Given the description of an element on the screen output the (x, y) to click on. 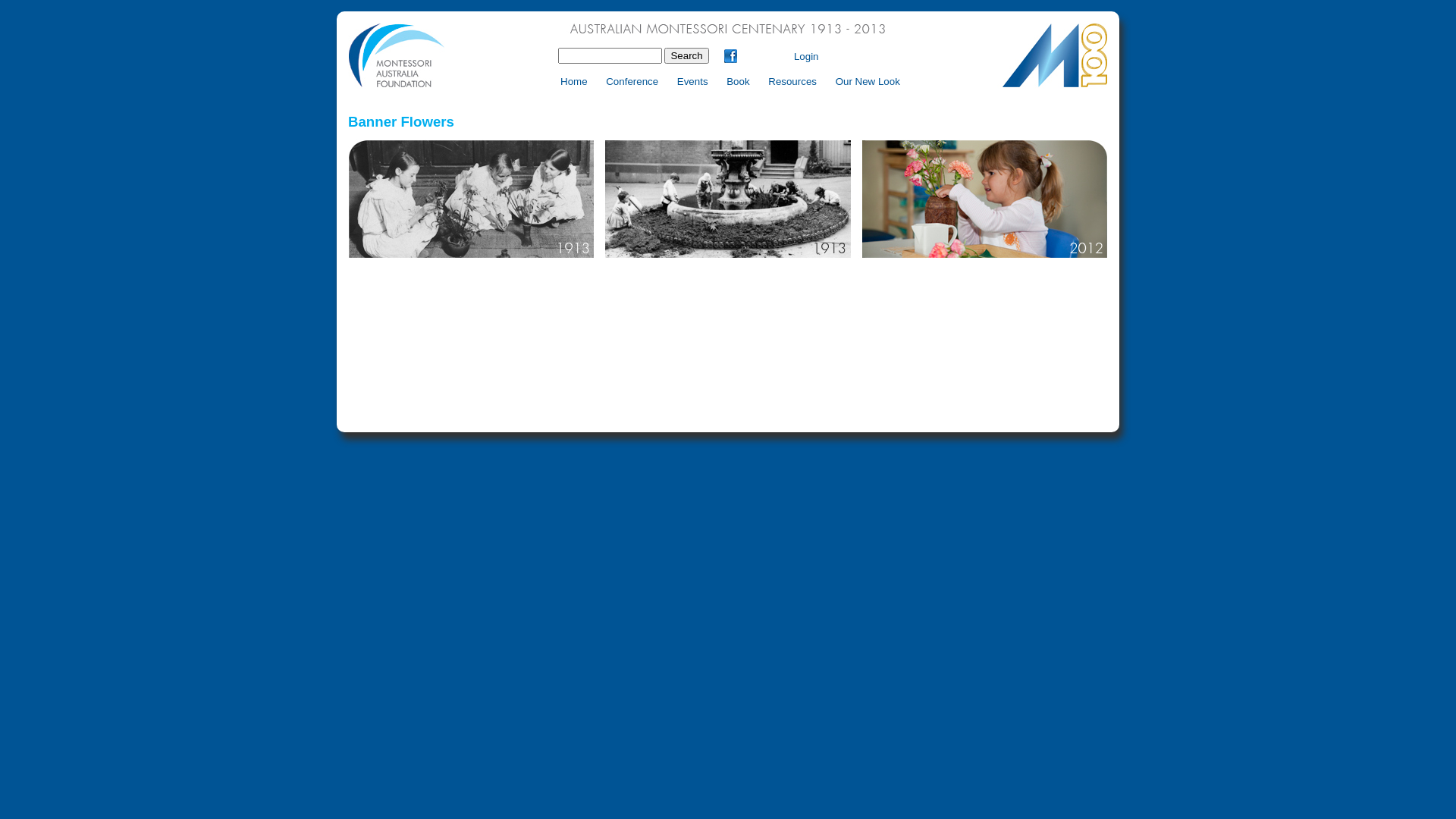
Book Element type: text (736, 81)
Events Element type: text (691, 81)
Home Element type: text (572, 81)
Login Element type: text (806, 56)
Home Element type: hover (727, 85)
Skip to main content Element type: text (773, 11)
Enter the terms you wish to search for. Element type: hover (610, 55)
Conference Element type: text (631, 81)
Resources Element type: text (791, 81)
Our New Look Element type: text (867, 81)
Search Element type: text (686, 55)
